Given the description of an element on the screen output the (x, y) to click on. 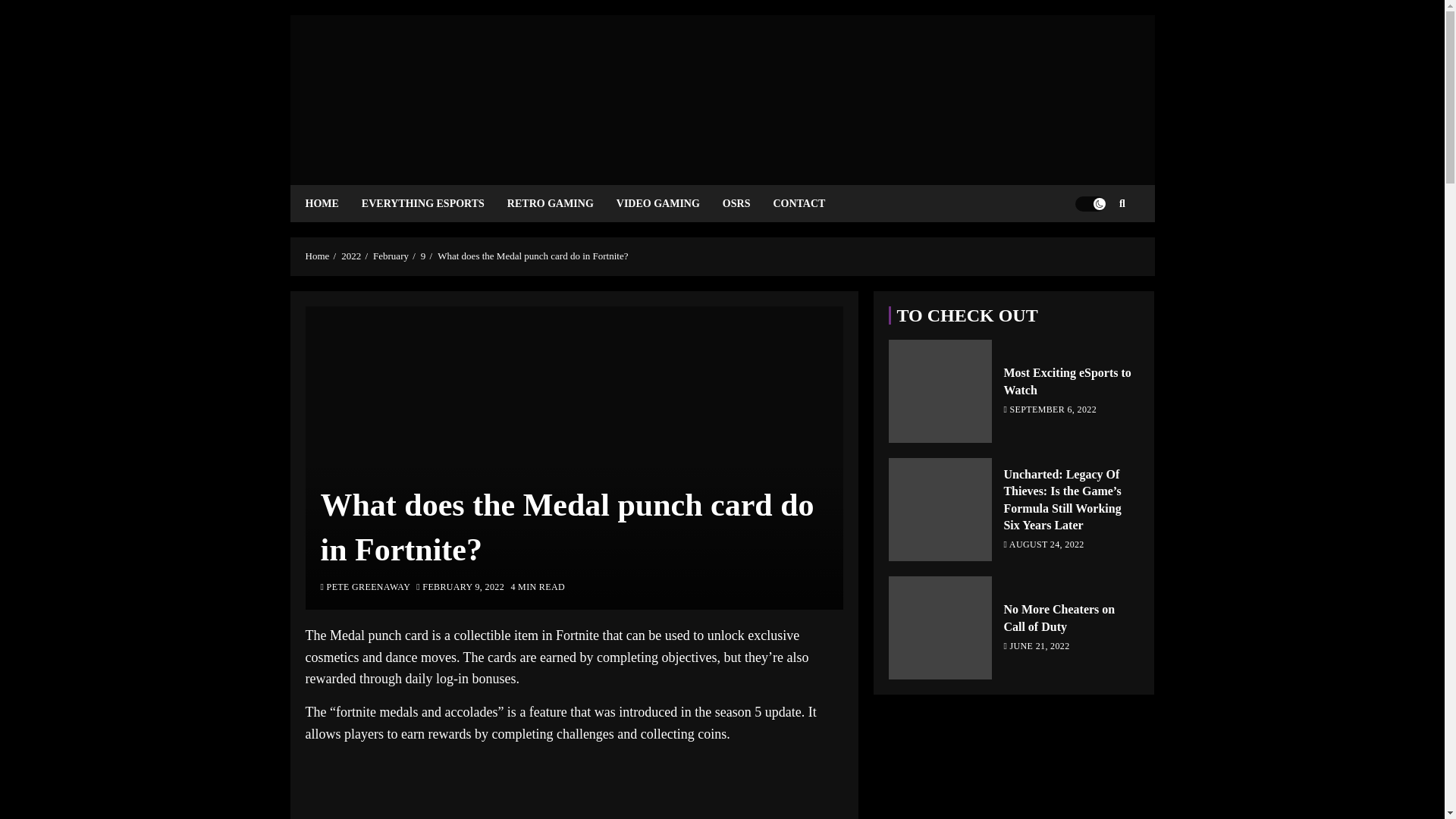
CONTACT (810, 203)
OSRS (747, 203)
Search (1092, 249)
Home (316, 256)
What does the Medal punch card do in Fortnite? (532, 256)
February (390, 256)
PETE GREENAWAY (365, 587)
EVERYTHING ESPORTS (433, 203)
2022 (350, 256)
RETRO GAMING (560, 203)
HOME (332, 203)
VIDEO GAMING (668, 203)
